Given the description of an element on the screen output the (x, y) to click on. 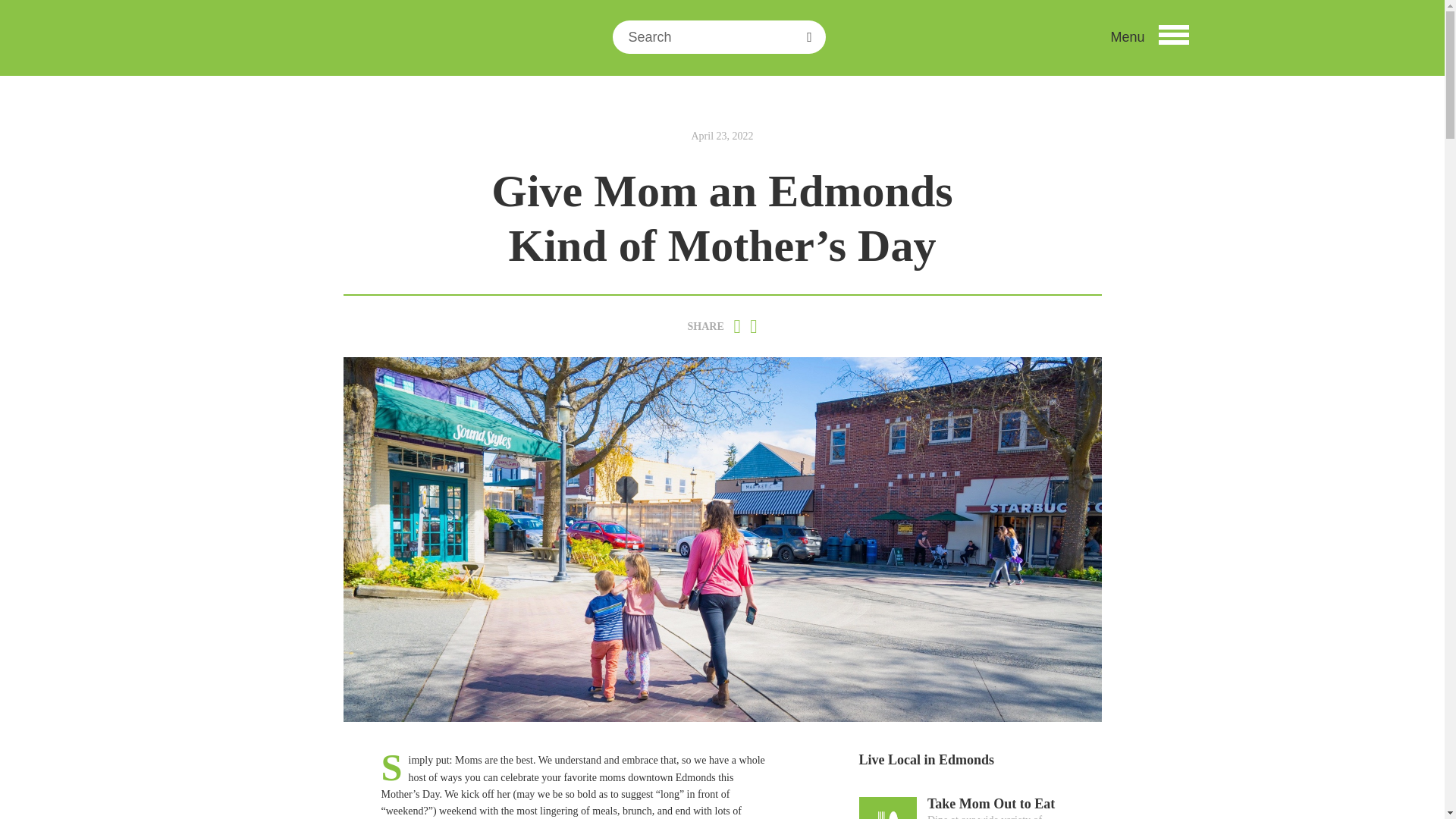
Menu (1148, 36)
Search (634, 61)
Ed! Edmonds Downtown Alliance (348, 45)
